Given the description of an element on the screen output the (x, y) to click on. 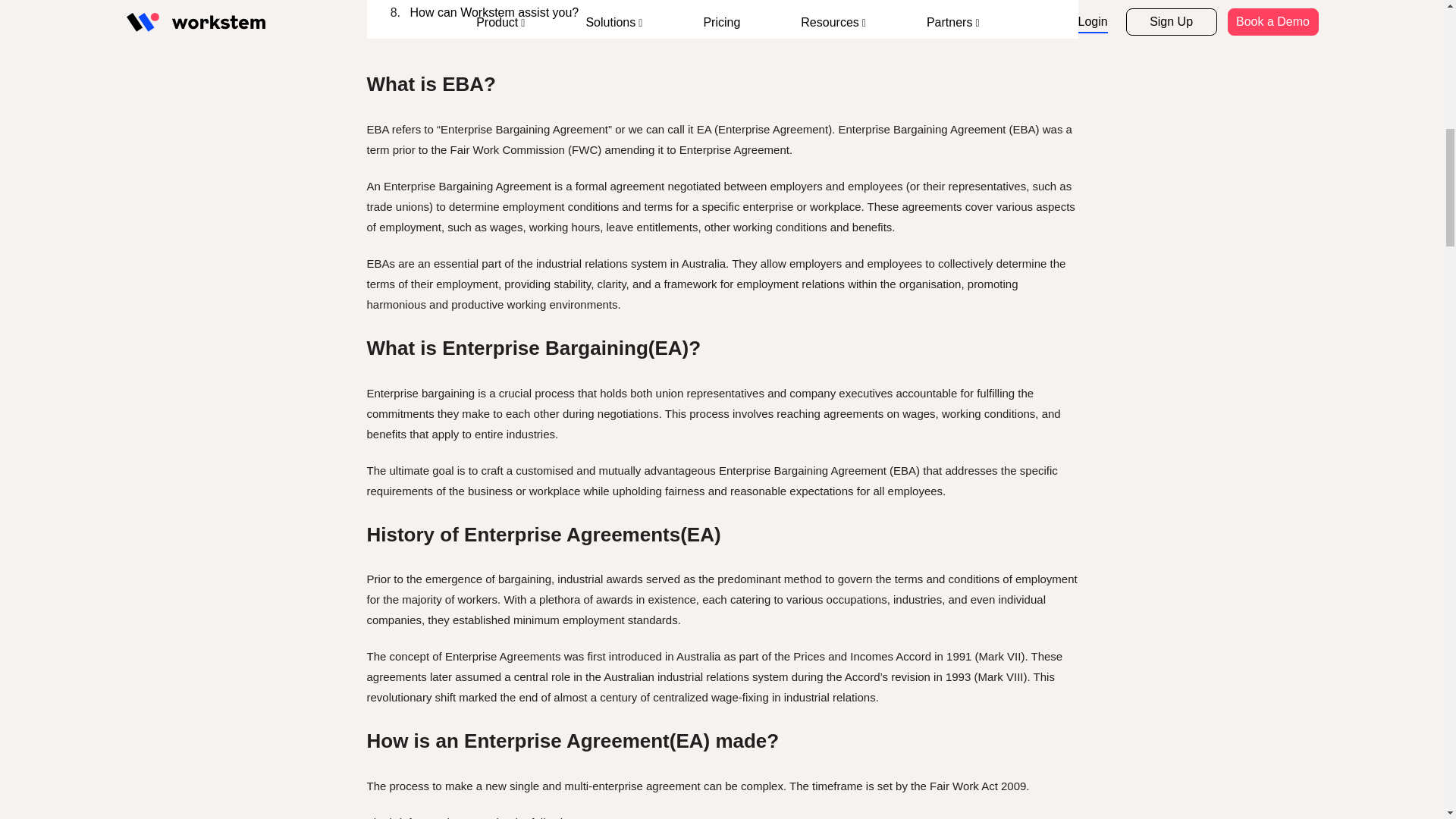
How can Workstem assist you? (733, 13)
